Given the description of an element on the screen output the (x, y) to click on. 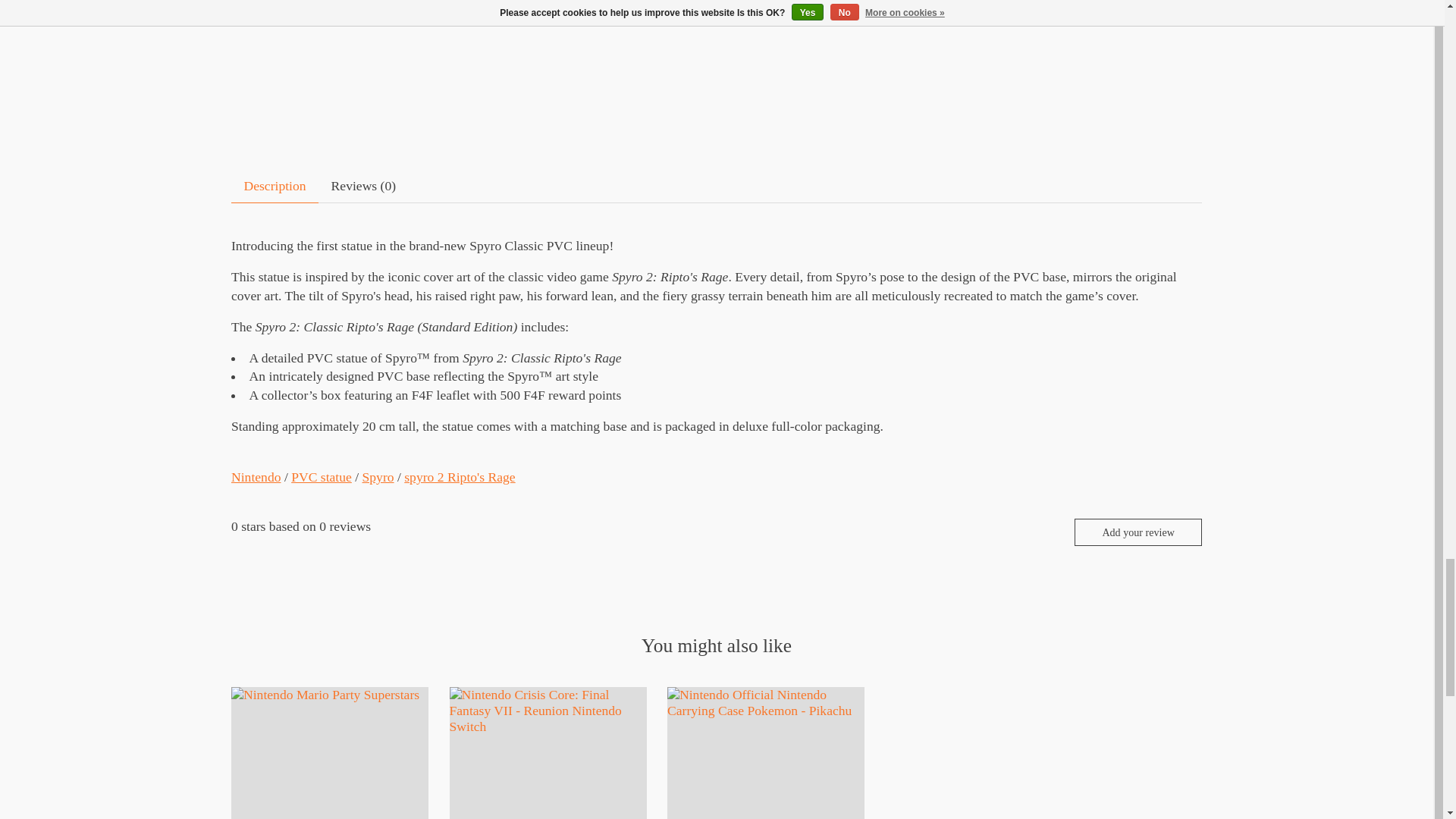
PVC statue (321, 476)
Spyro (378, 476)
Nintendo (256, 476)
